Given the description of an element on the screen output the (x, y) to click on. 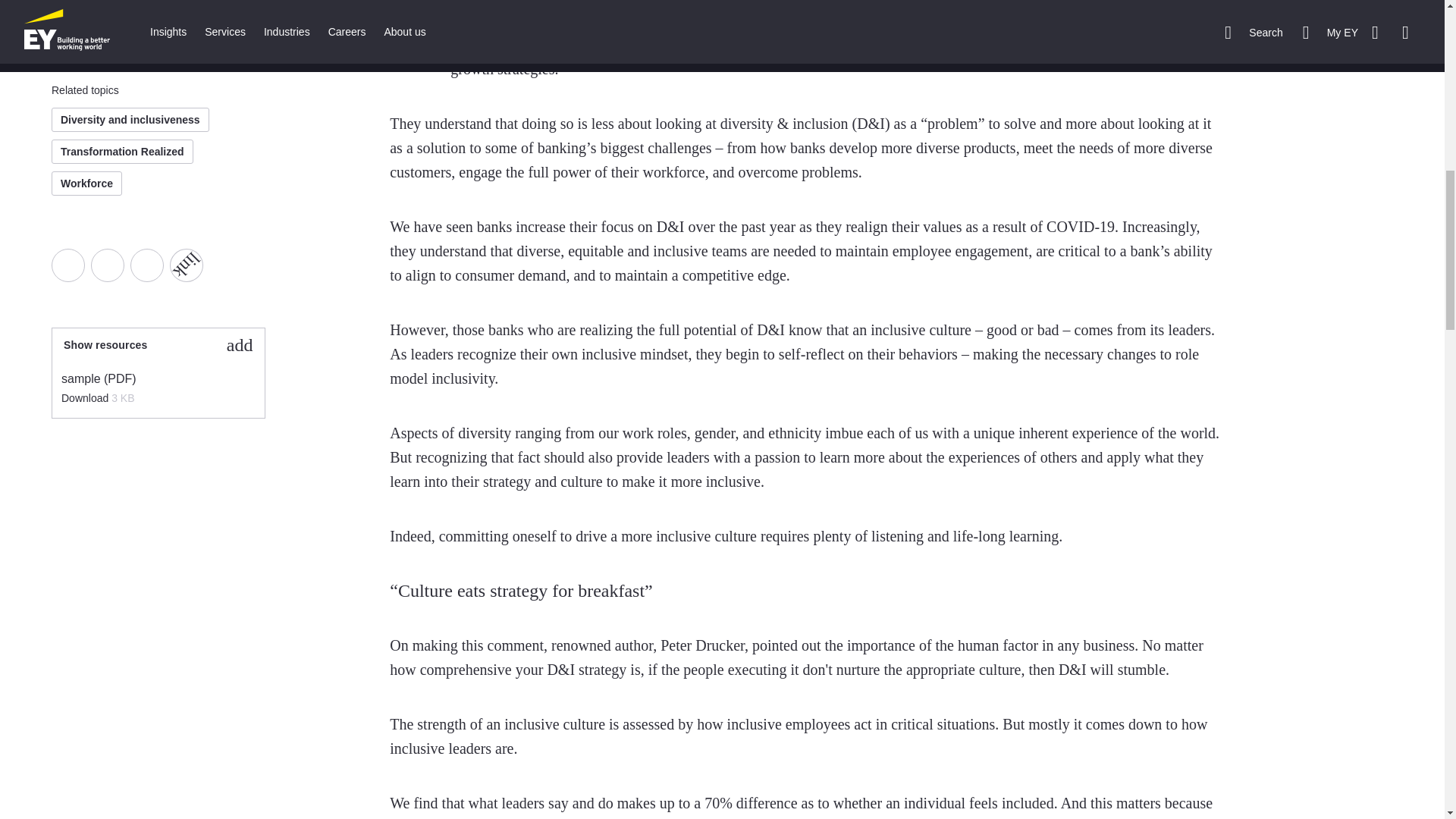
Copy (179, 258)
LinkedIn (147, 264)
Download (86, 398)
Twitter (106, 264)
Facebook (67, 264)
